Given the description of an element on the screen output the (x, y) to click on. 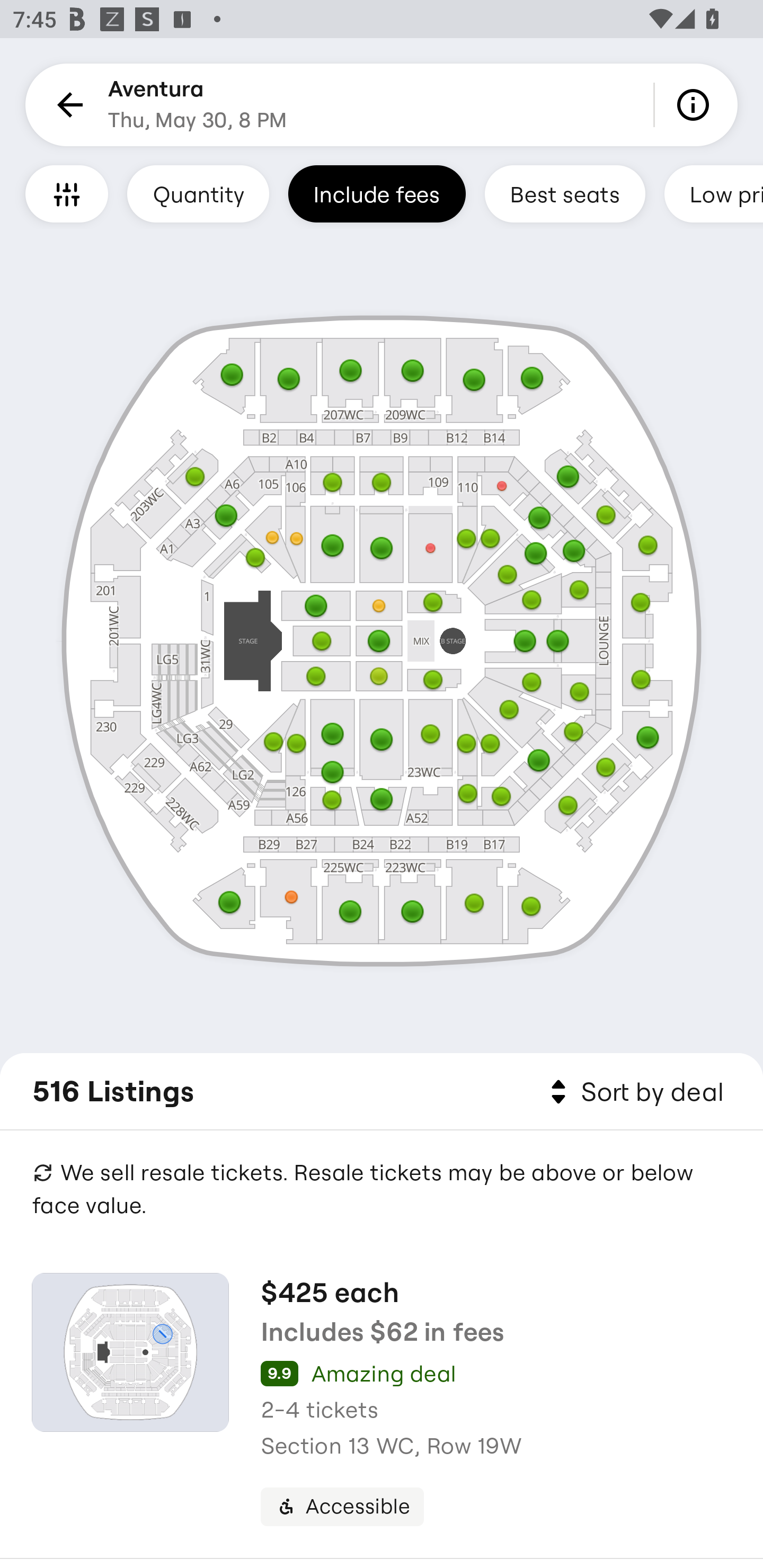
Back (66, 104)
Aventura Thu, May 30, 8 PM (197, 104)
Info (695, 104)
Filters and Accessible Seating (66, 193)
Quantity (198, 193)
Include fees (376, 193)
Best seats (564, 193)
Sort by deal (633, 1091)
